Given the description of an element on the screen output the (x, y) to click on. 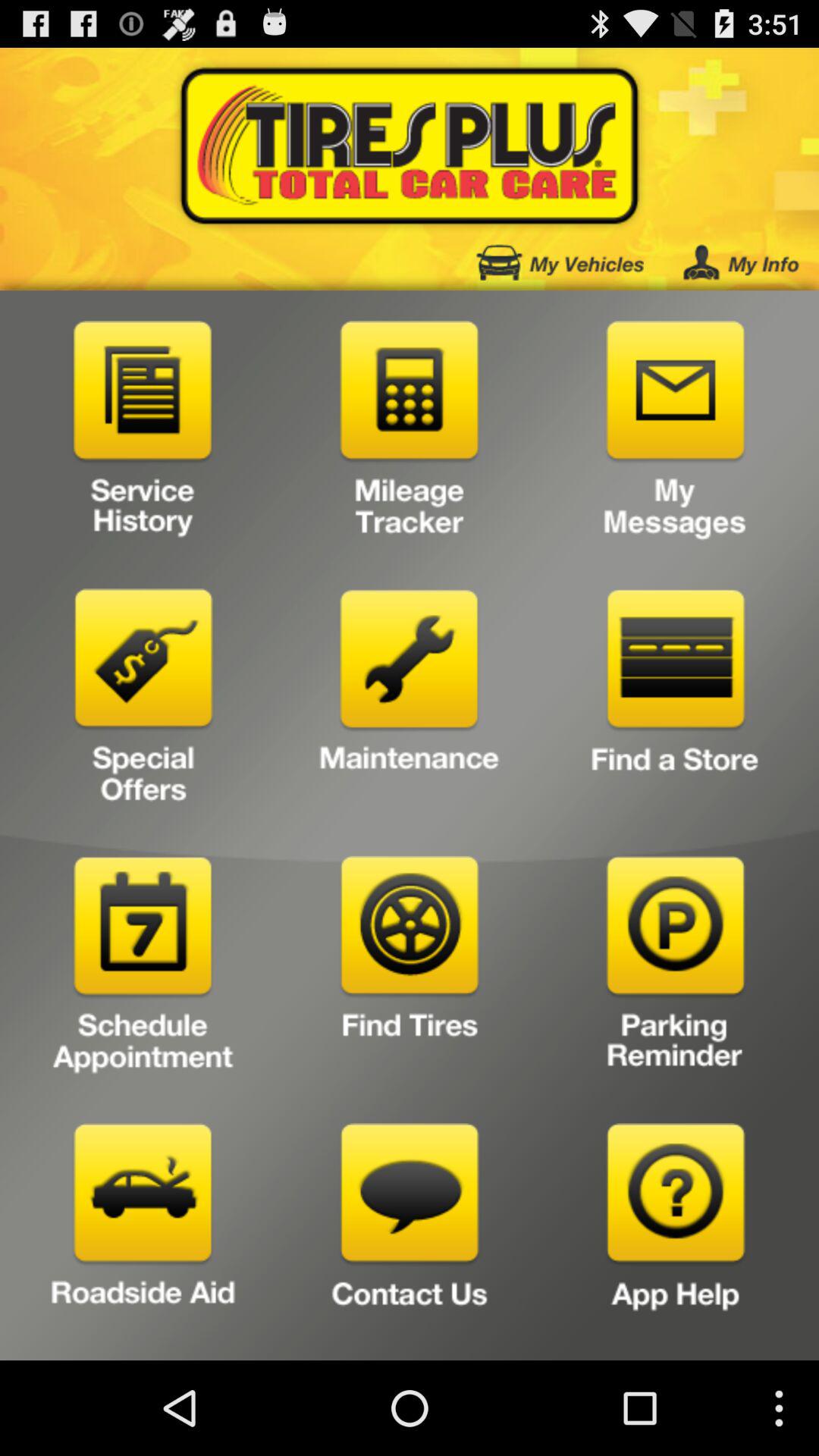
turn on the item at the bottom (409, 1236)
